Given the description of an element on the screen output the (x, y) to click on. 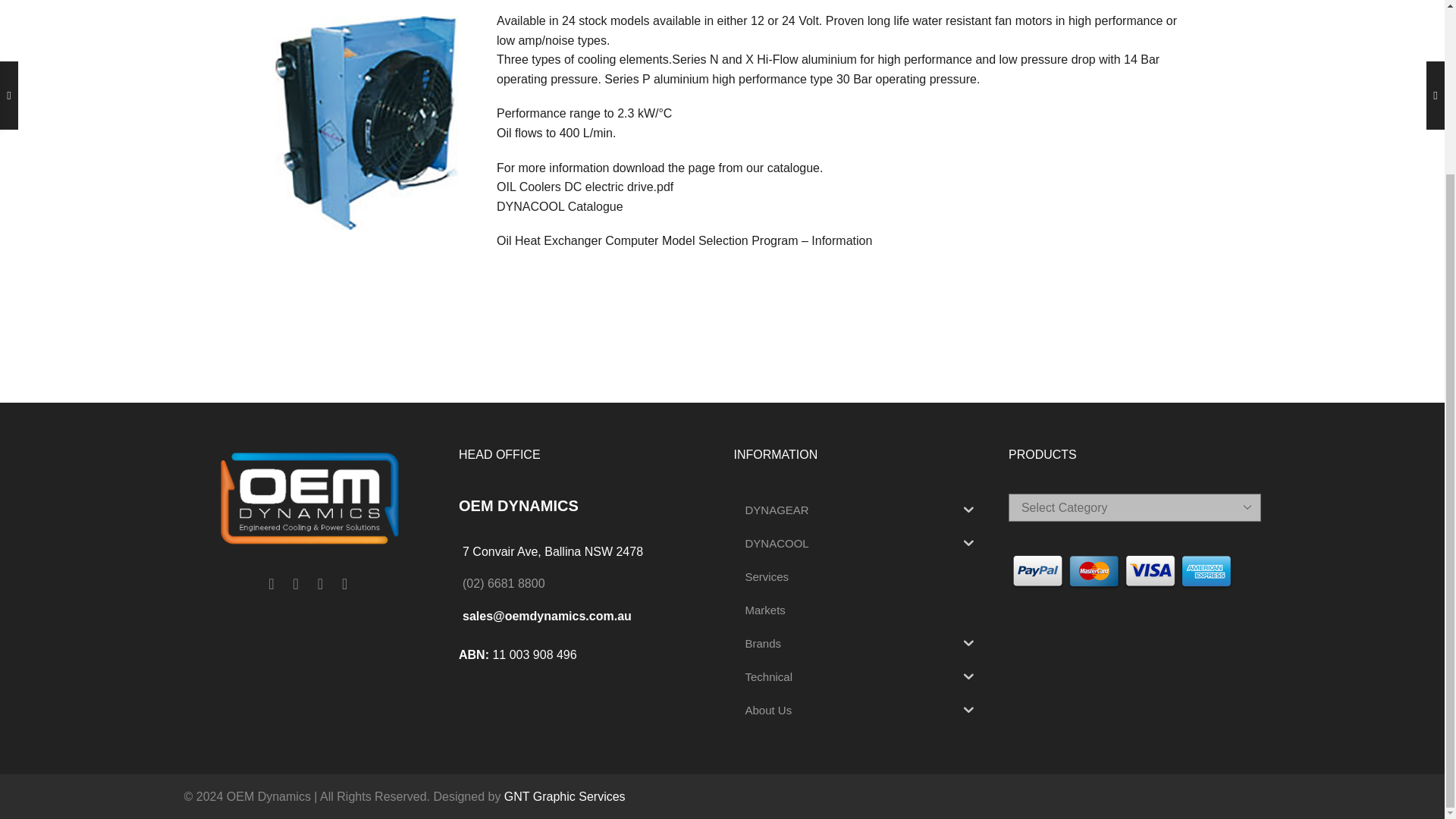
Downloads Form (559, 205)
Log in (1149, 101)
